Given the description of an element on the screen output the (x, y) to click on. 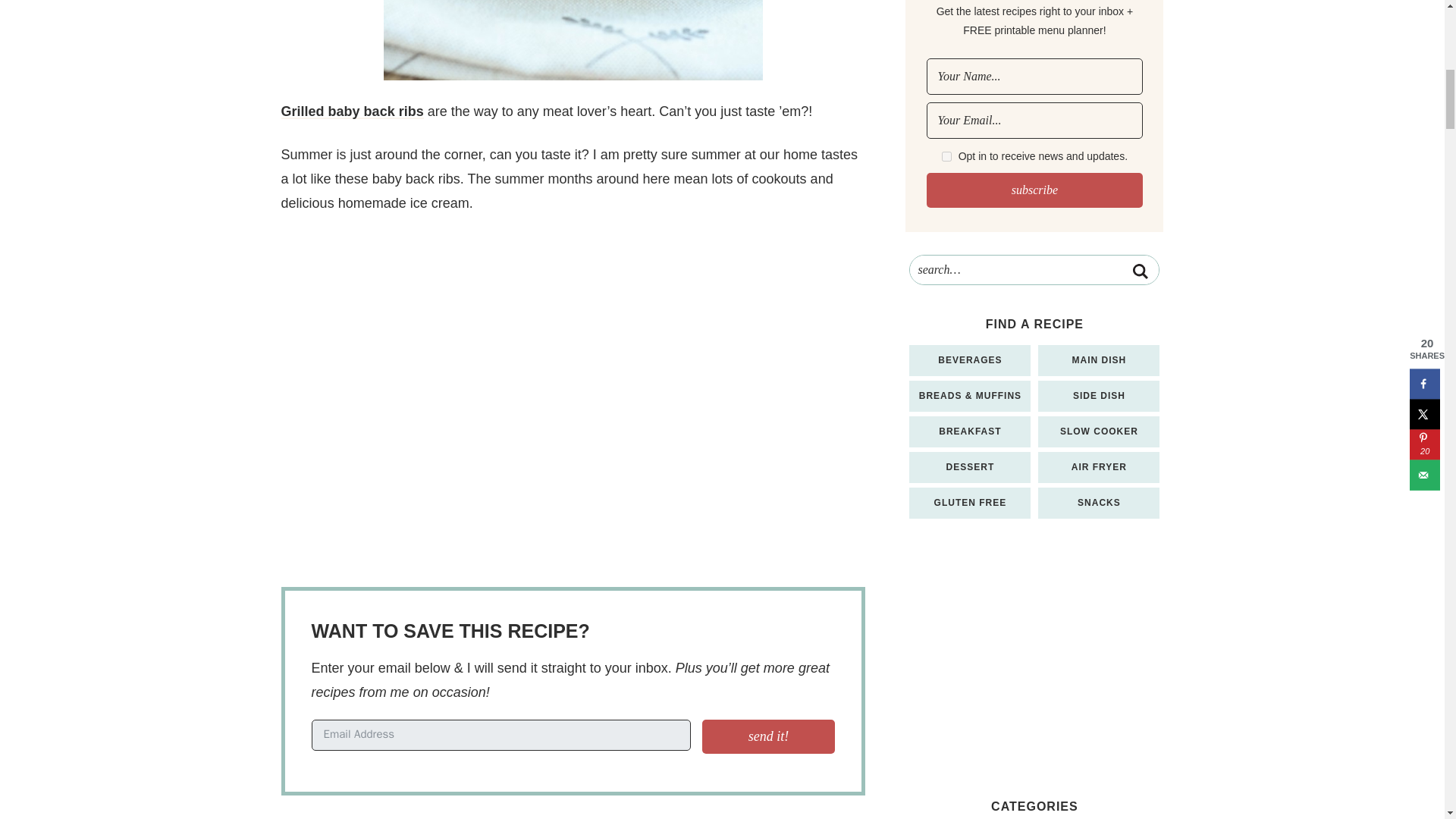
Search for (1034, 269)
on (947, 156)
